Given the description of an element on the screen output the (x, y) to click on. 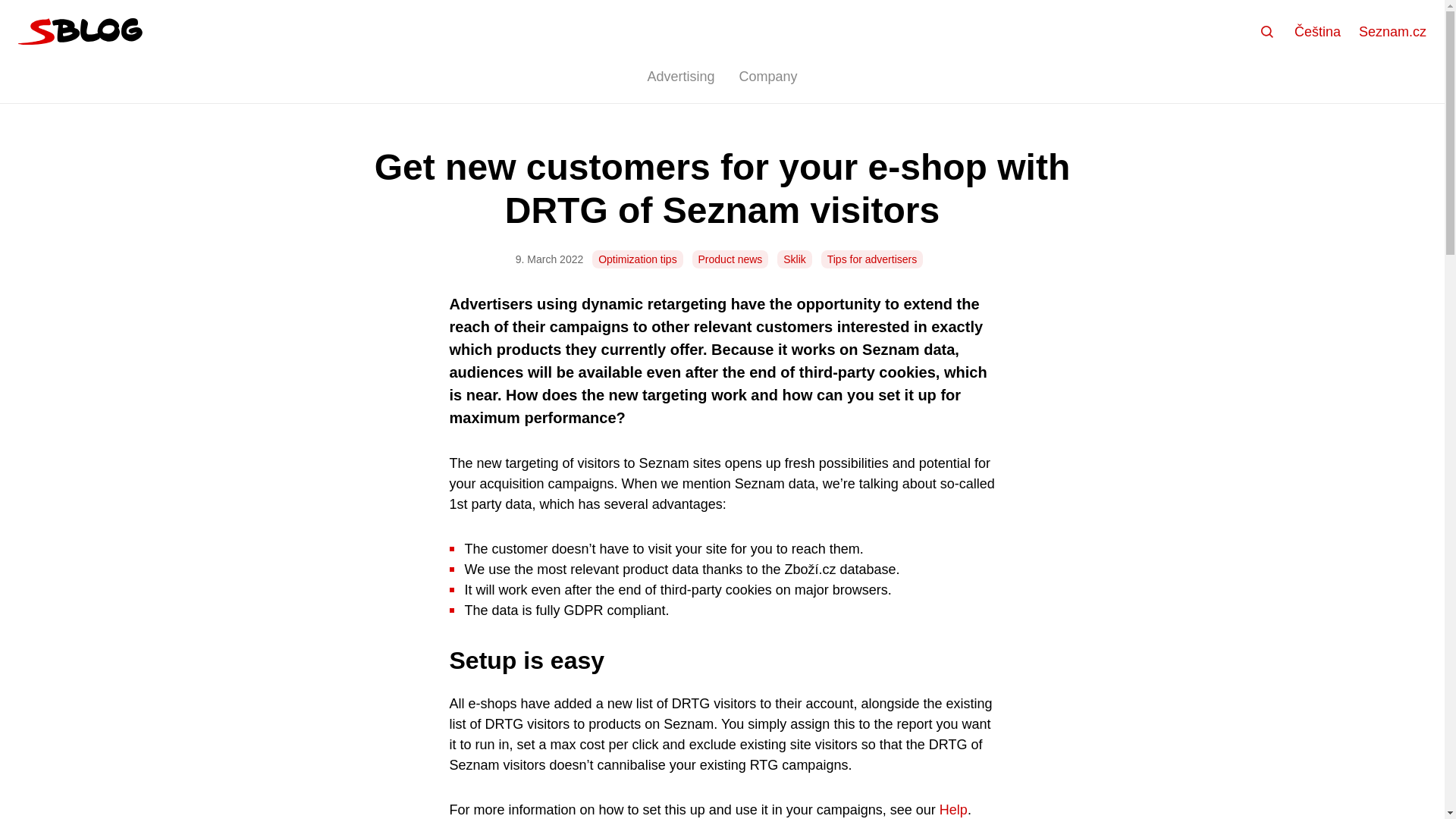
Sklik (794, 259)
Company (767, 76)
Product news (730, 259)
Optimization tips (637, 259)
Advertising (680, 76)
Tips for advertisers (872, 259)
Seznam.cz (1392, 31)
Help (953, 809)
Hledat (1267, 31)
